Given the description of an element on the screen output the (x, y) to click on. 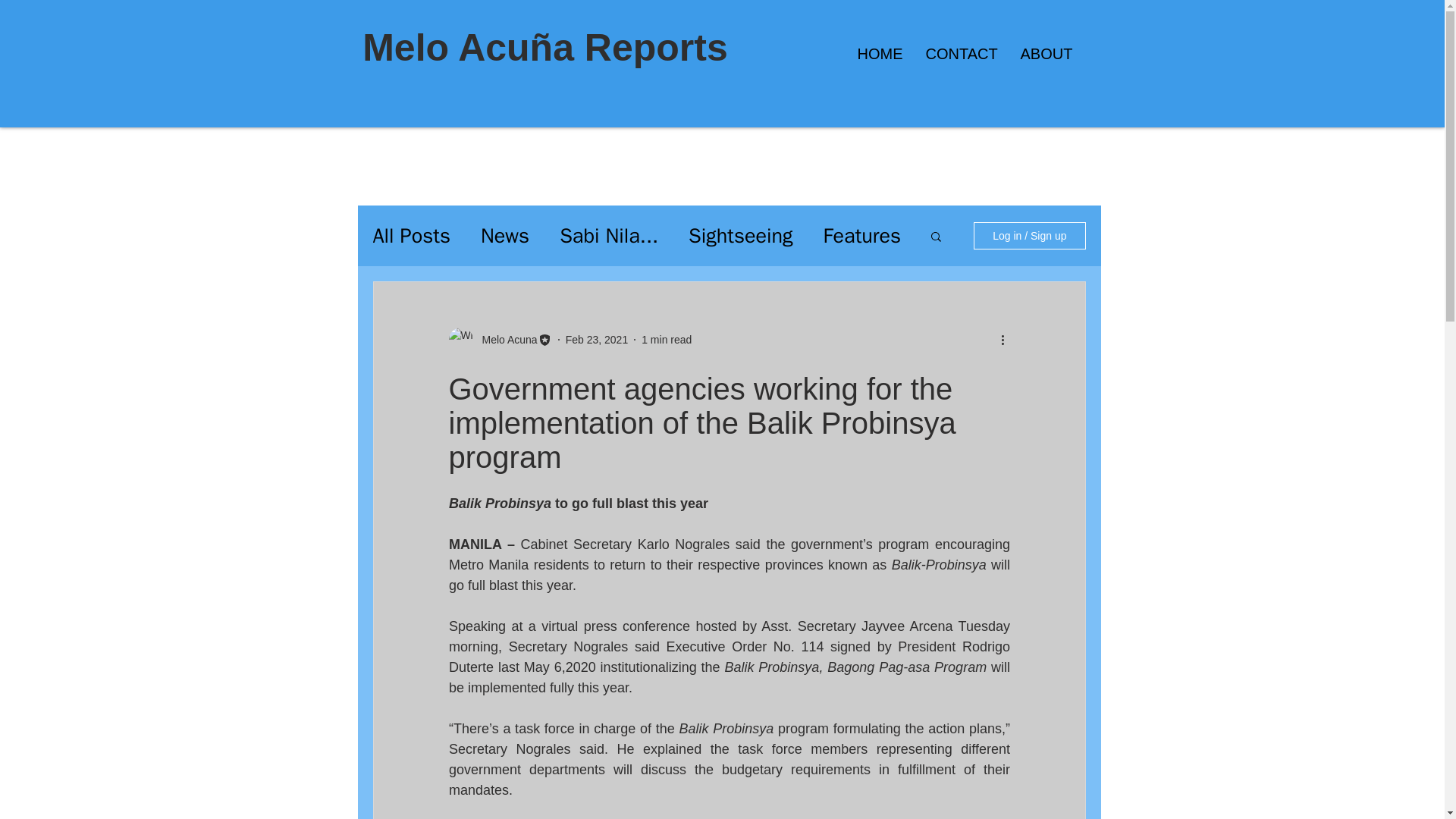
News (504, 235)
All Posts (410, 235)
CONTACT (961, 53)
ABOUT (1046, 53)
1 min read (666, 339)
Melo Acuna (505, 340)
Features (862, 235)
HOME (879, 53)
Feb 23, 2021 (597, 339)
Sightseeing (740, 235)
Sabi Nila... (608, 235)
